Given the description of an element on the screen output the (x, y) to click on. 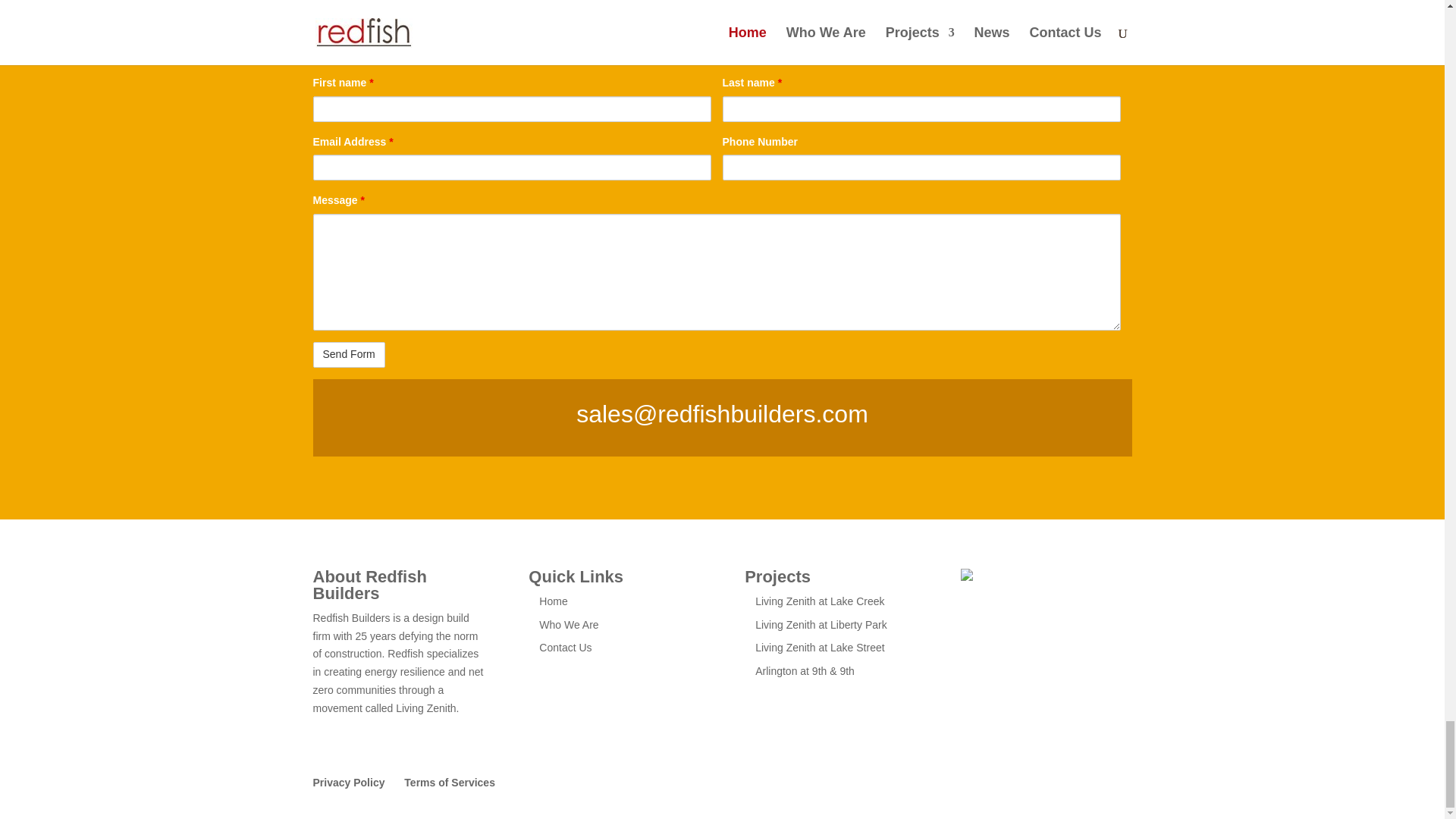
Who We Are (568, 624)
Home (552, 601)
Contact Us (564, 647)
Send Form (348, 354)
Send Form (348, 354)
